Given the description of an element on the screen output the (x, y) to click on. 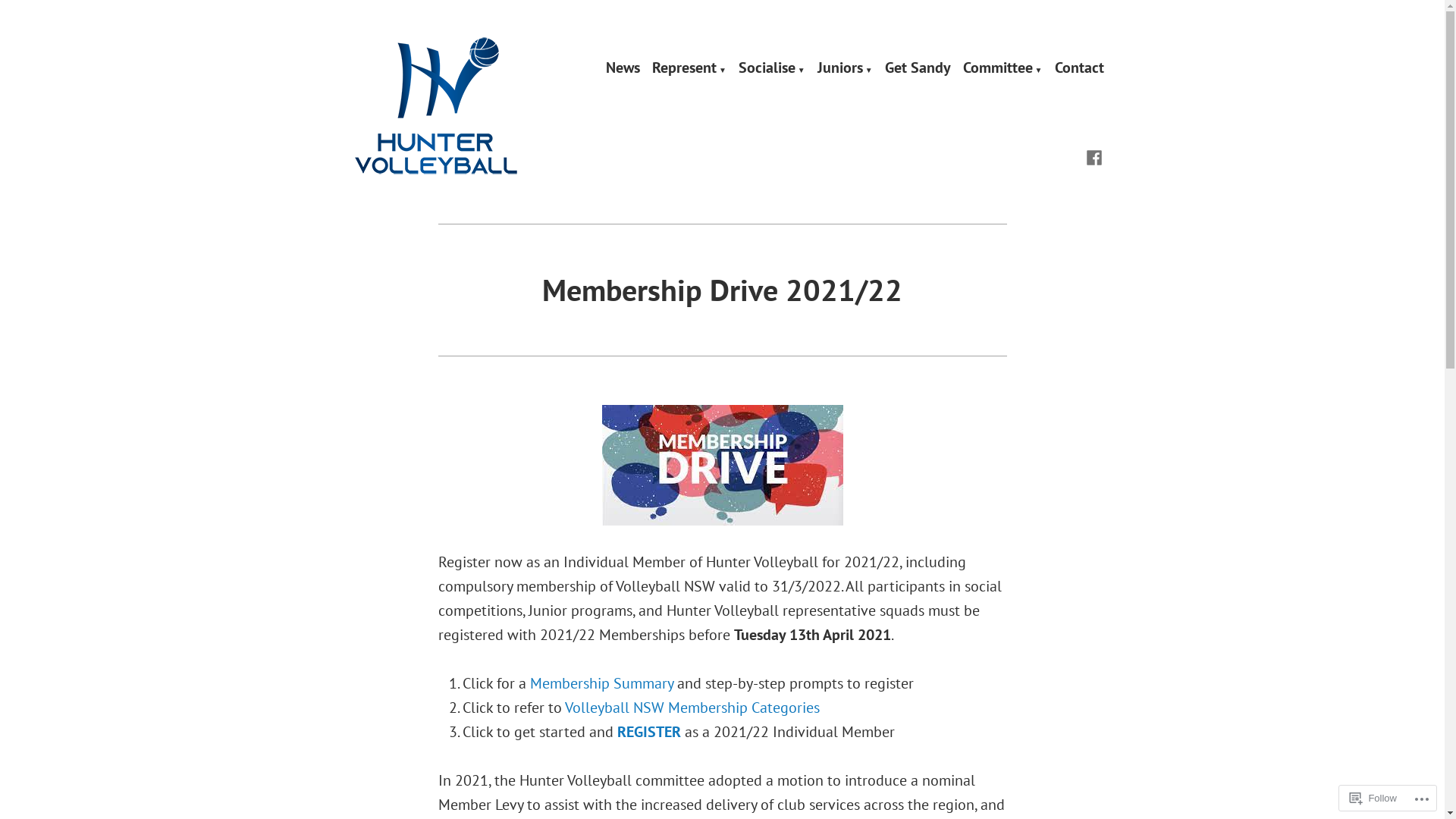
Represent Element type: text (689, 68)
Membership Summary Element type: text (600, 683)
Contact Element type: text (1078, 68)
HV Facebook page Element type: hover (1094, 156)
News Element type: text (622, 68)
REGISTER Element type: text (650, 731)
Volleyball NSW Membership Categories Element type: text (691, 707)
Juniors Element type: text (844, 68)
Committee Element type: text (1002, 68)
Get Sandy Element type: text (917, 68)
Follow Element type: text (1372, 797)
Socialise Element type: text (771, 68)
